Given the description of an element on the screen output the (x, y) to click on. 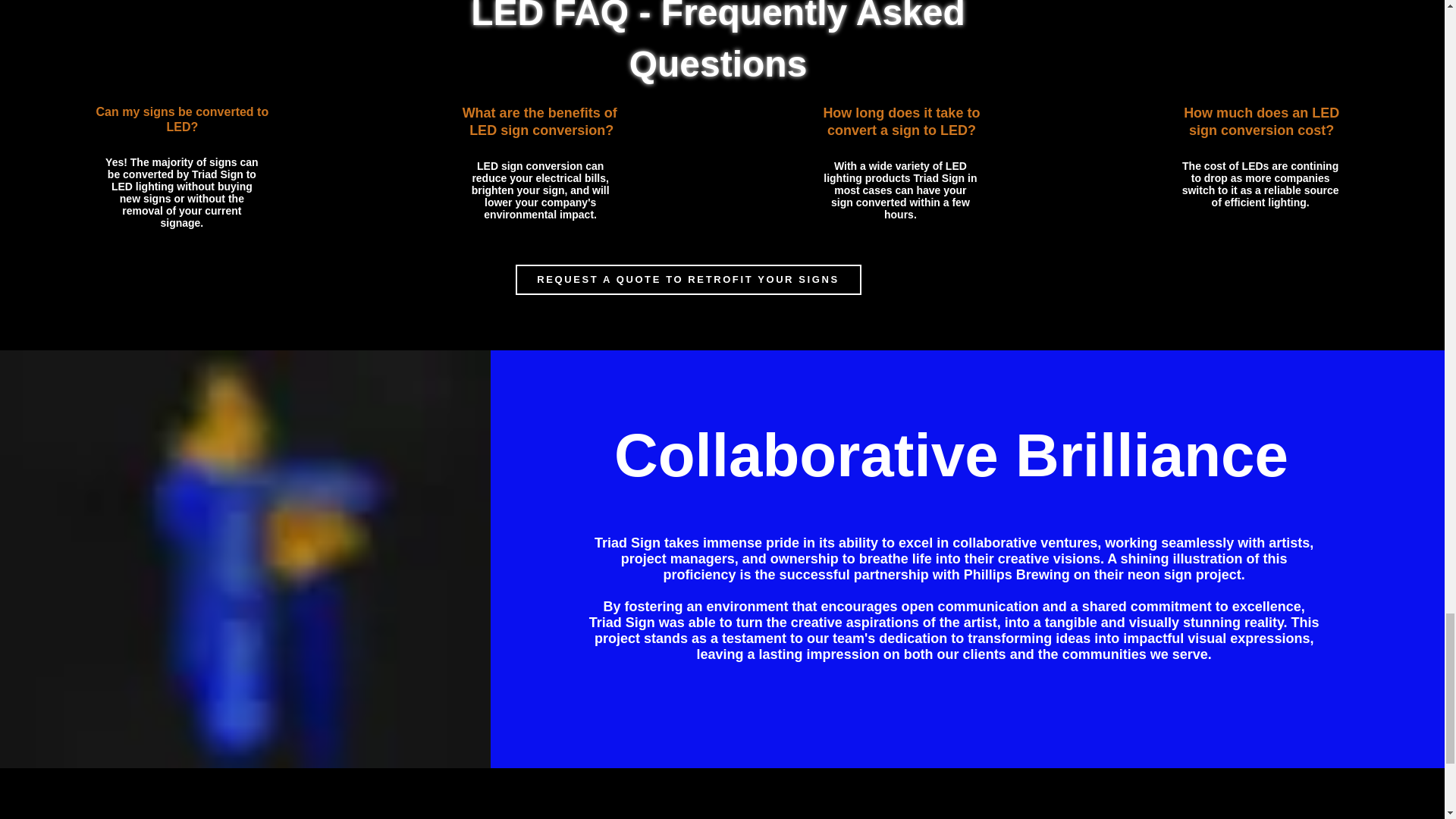
REQUEST A QUOTE TO RETROFIT YOUR SIGNS (688, 279)
